Given the description of an element on the screen output the (x, y) to click on. 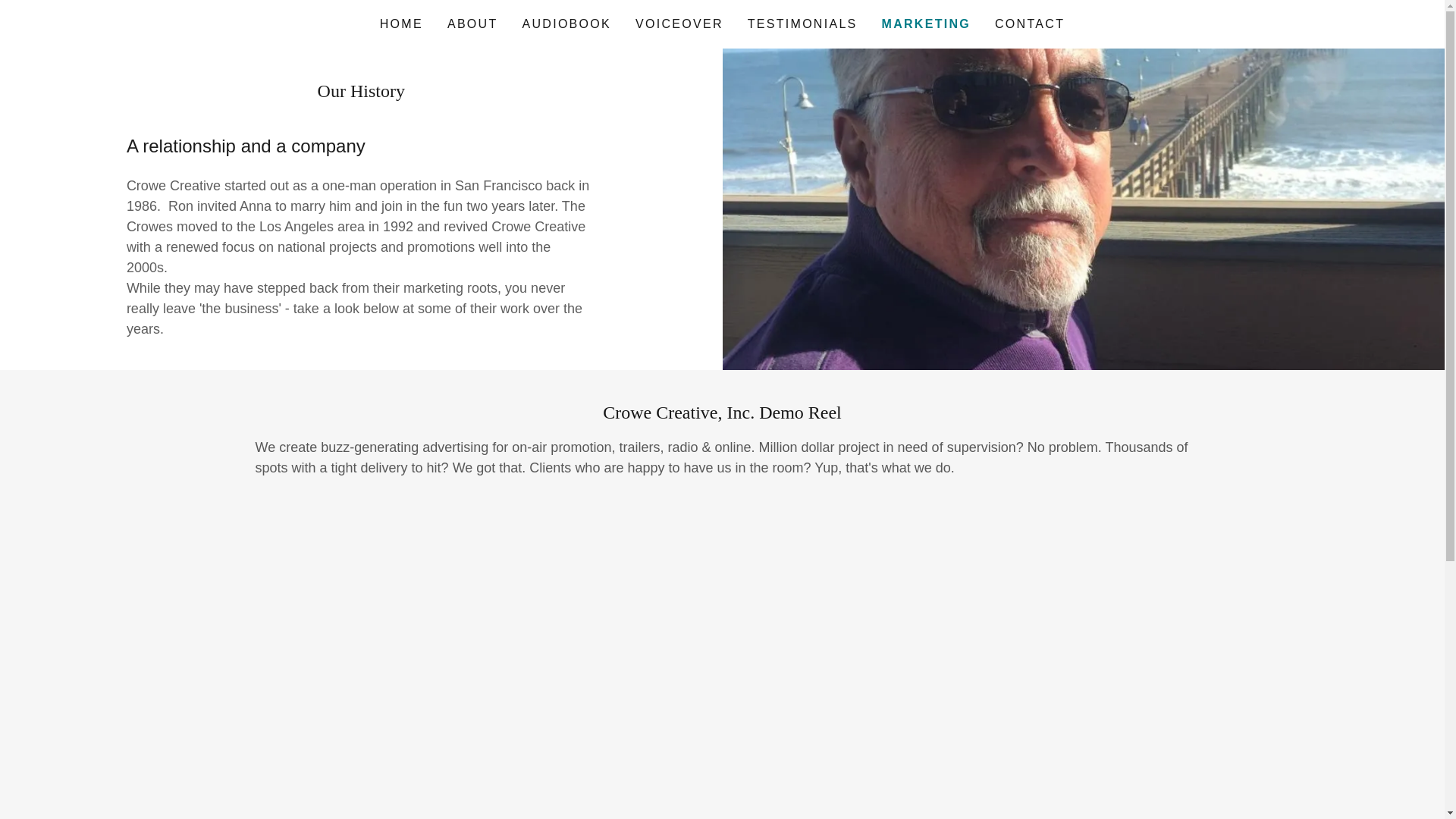
MARKETING (926, 24)
CONTACT (1029, 23)
VOICEOVER (679, 23)
ABOUT (472, 23)
AUDIOBOOK (565, 23)
TESTIMONIALS (801, 23)
HOME (401, 23)
